Given the description of an element on the screen output the (x, y) to click on. 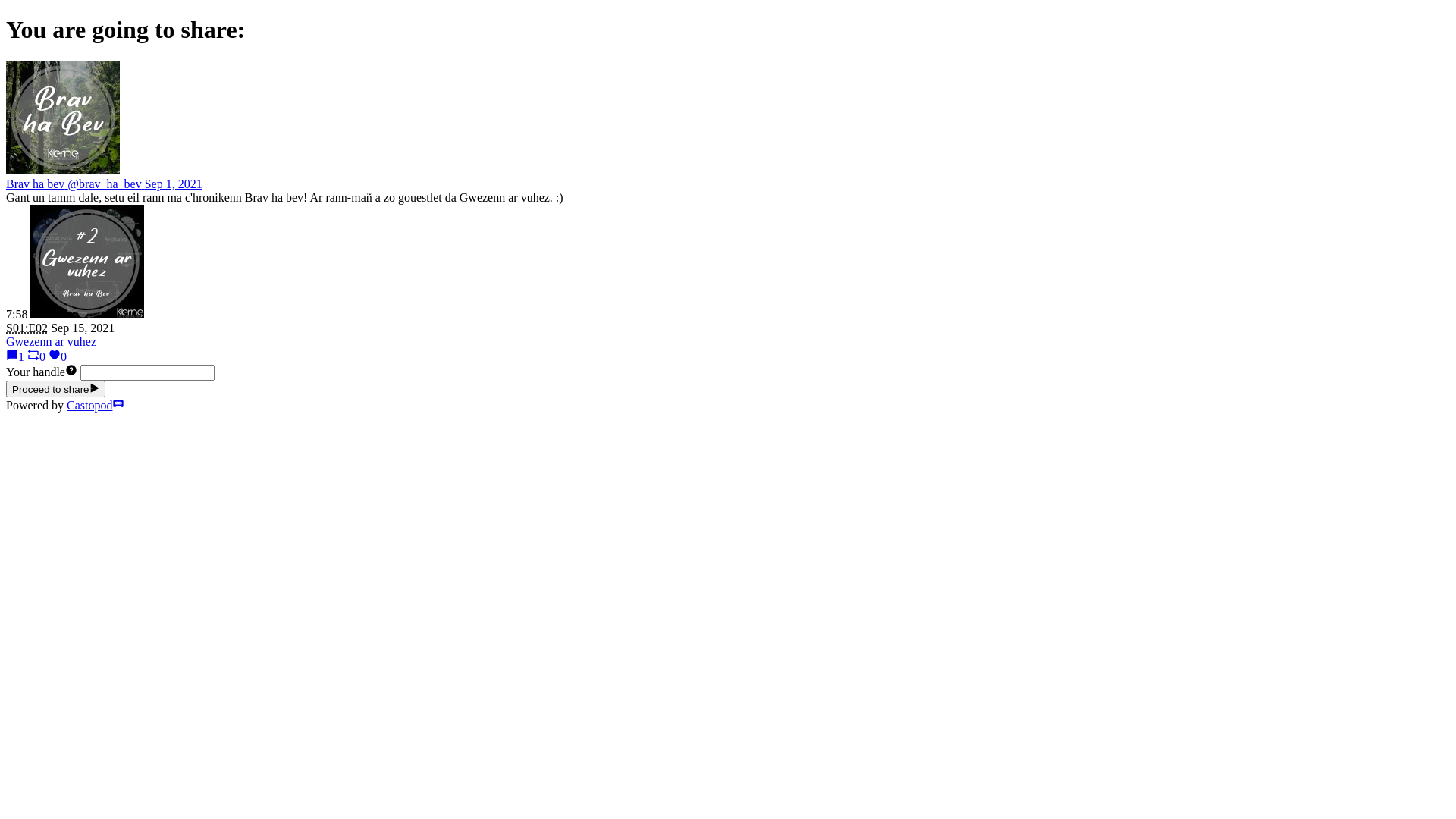
0 Element type: text (57, 356)
Sep 1, 2021 Element type: text (173, 183)
Proceed to share Element type: text (55, 388)
Gwezenn ar vuhez Element type: text (51, 341)
1 Element type: text (15, 356)
Castopod Element type: text (95, 404)
Enter the @username@domain you want to act from. Element type: hover (71, 371)
Brav ha bev @brav_ha_bev Element type: text (75, 183)
0 Element type: text (36, 356)
